Given the description of an element on the screen output the (x, y) to click on. 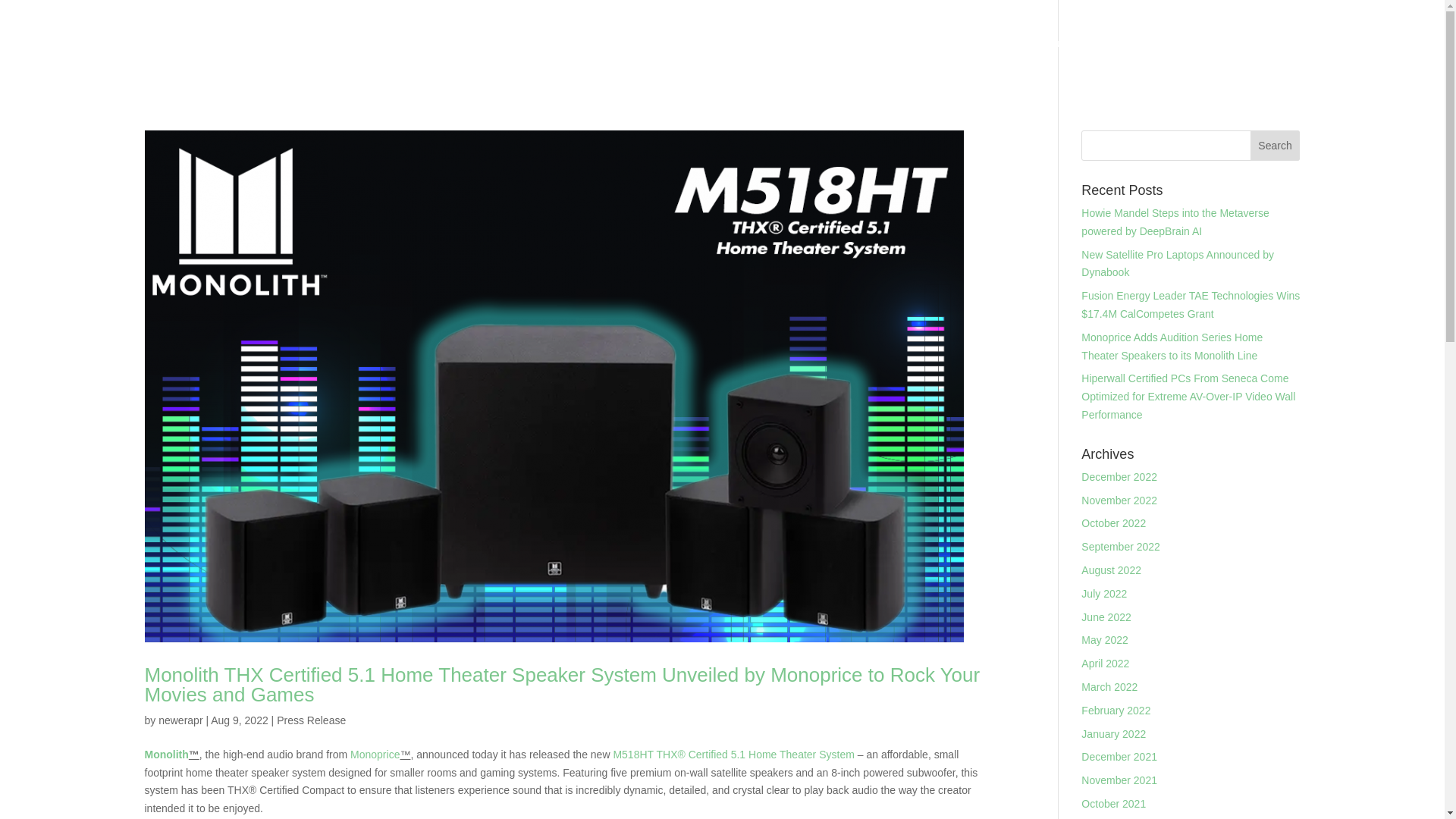
Contact Us (1390, 61)
Client News (1180, 61)
New Era Productions (1285, 61)
Search (1275, 145)
New Satellite Pro Laptops Announced by Dynabook (1177, 263)
Posts by newerapr (180, 720)
Our Experience (1088, 61)
Search (1275, 145)
newerapr (180, 720)
Monoprice (374, 754)
Press Release (311, 720)
Monolith (165, 754)
About Us (1004, 61)
